Given the description of an element on the screen output the (x, y) to click on. 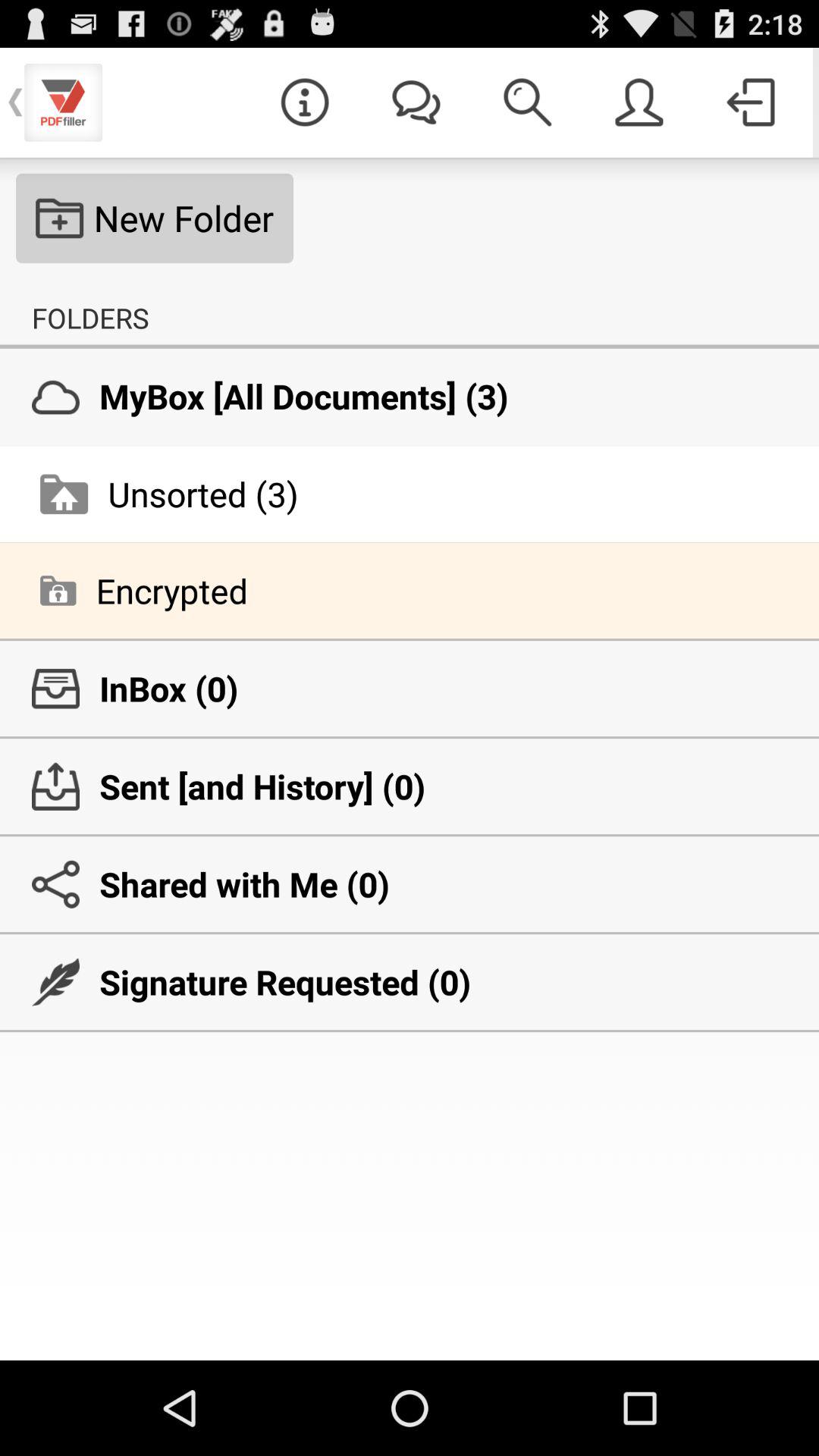
press the shared with me item (409, 884)
